Given the description of an element on the screen output the (x, y) to click on. 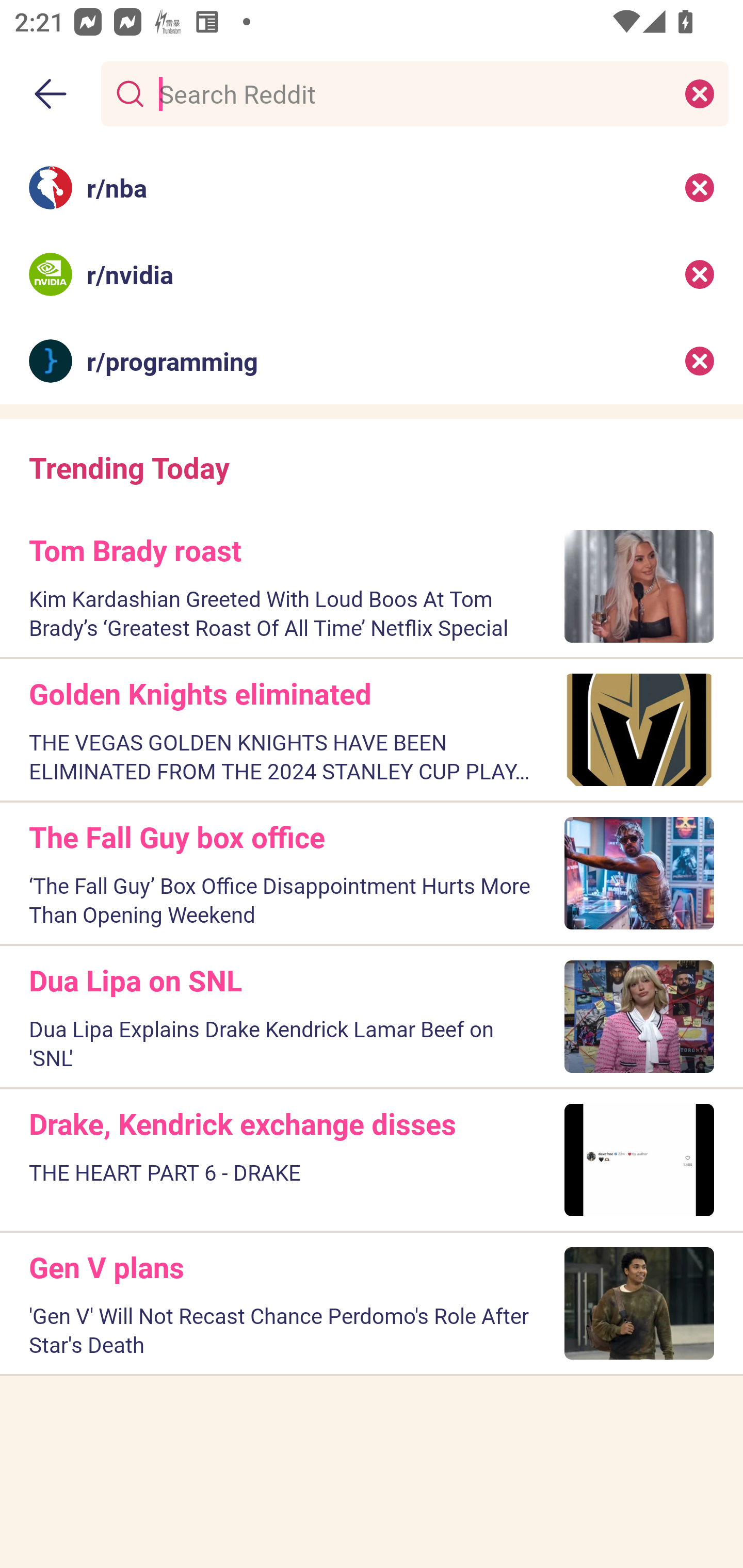
Back (50, 93)
Search Reddit (410, 93)
Clear search (699, 93)
r/nba Recent search: r/nba Remove (371, 187)
Remove (699, 187)
r/nvidia Recent search: r/nvidia Remove (371, 274)
Remove (699, 274)
r/programming Recent search: r/programming Remove (371, 361)
Remove (699, 361)
